Given the description of an element on the screen output the (x, y) to click on. 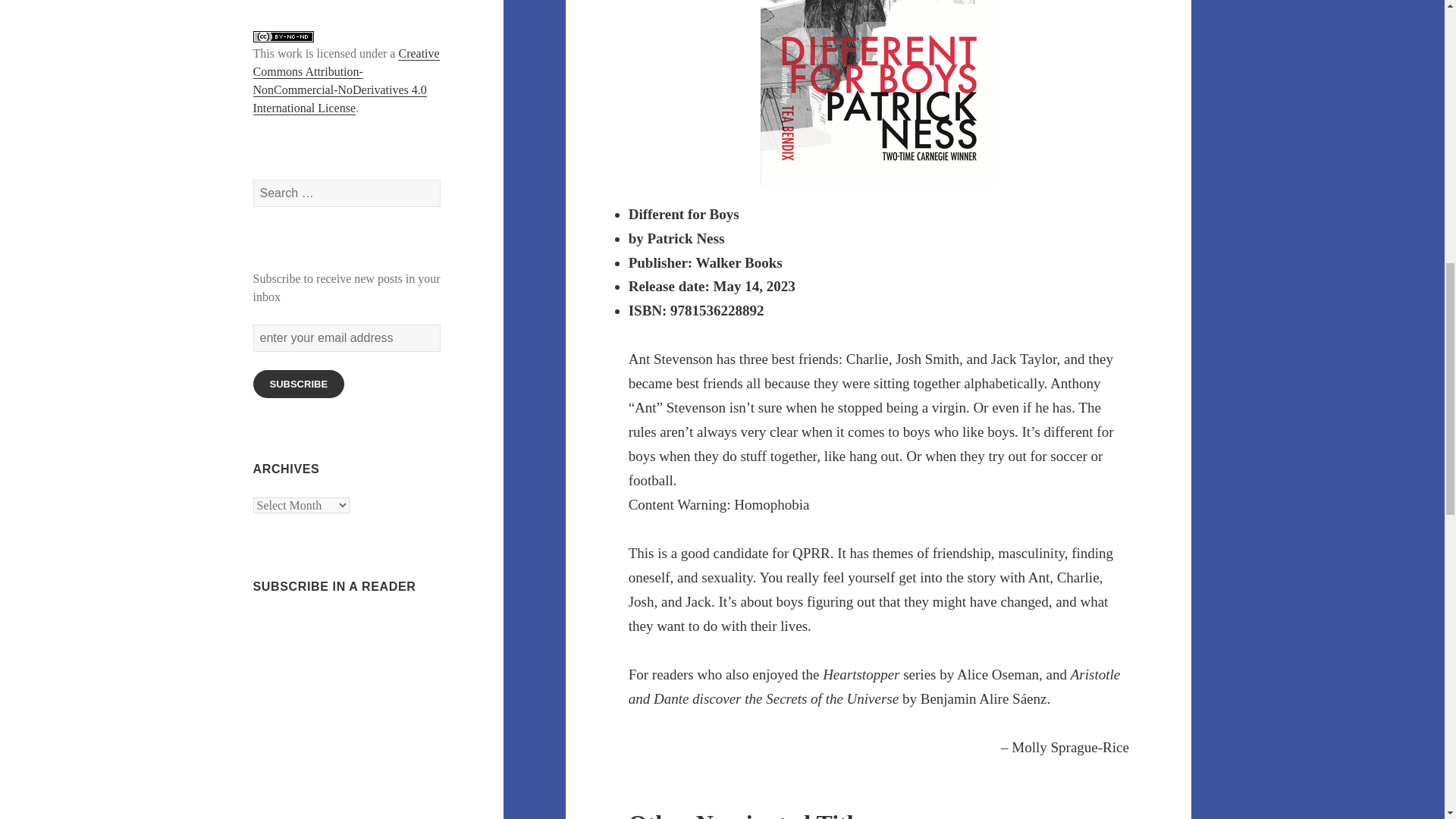
SUBSCRIBE (299, 384)
